Given the description of an element on the screen output the (x, y) to click on. 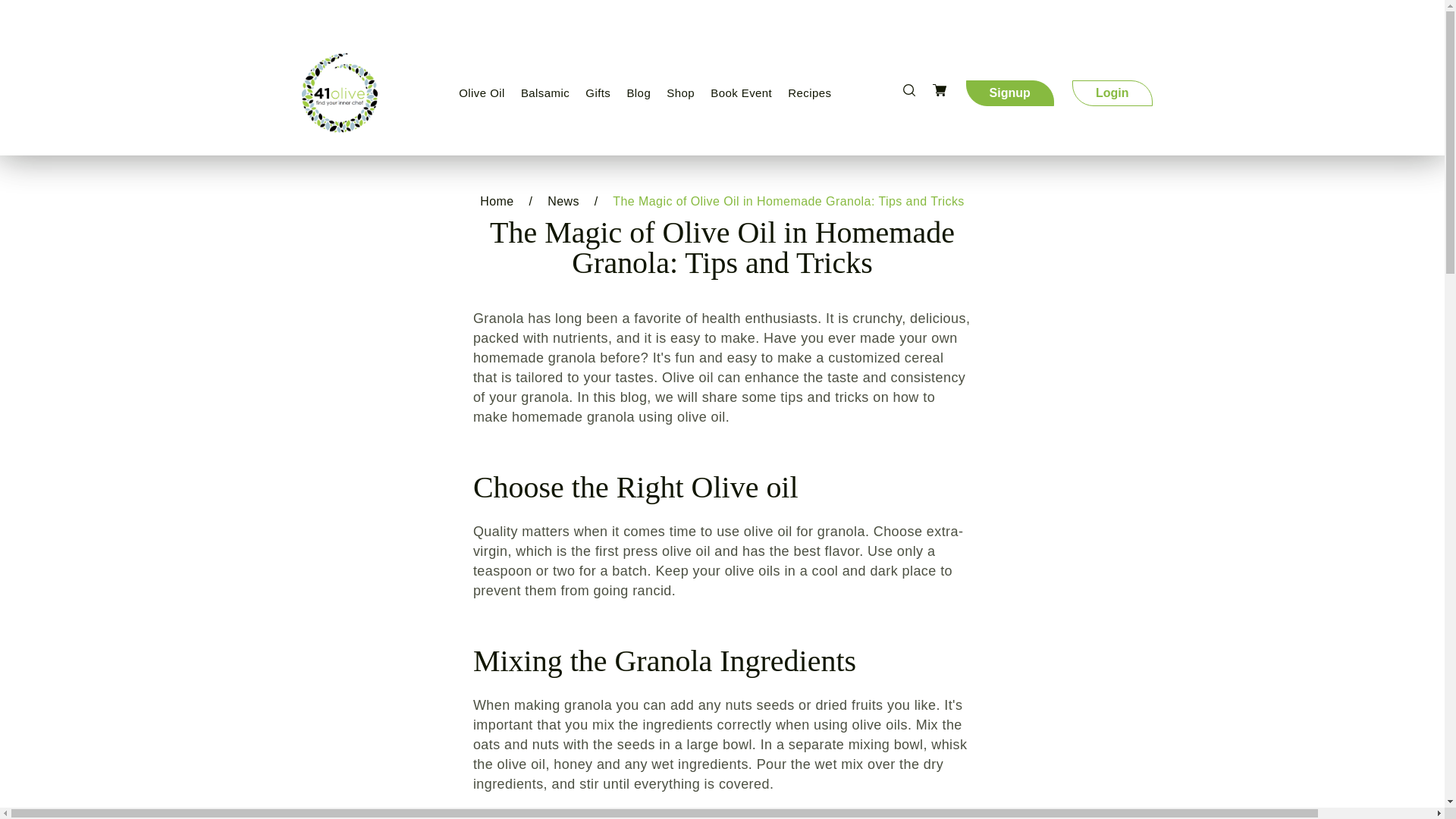
Balsamic (545, 92)
Gifts (597, 92)
Blog (638, 92)
Home (496, 201)
Olive Oil (481, 92)
